Given the description of an element on the screen output the (x, y) to click on. 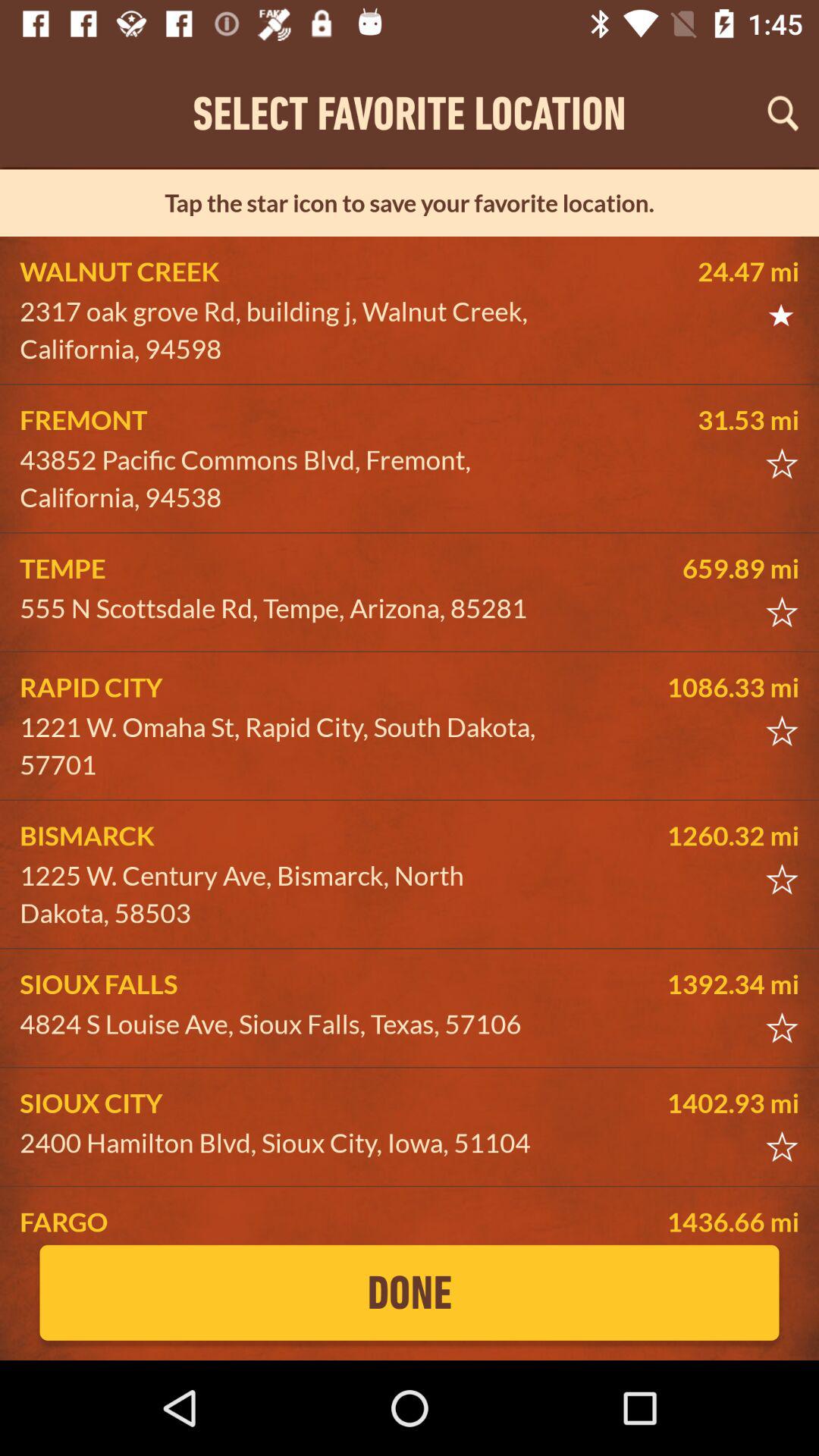
click the 555 n scottsdale item (285, 608)
